Given the description of an element on the screen output the (x, y) to click on. 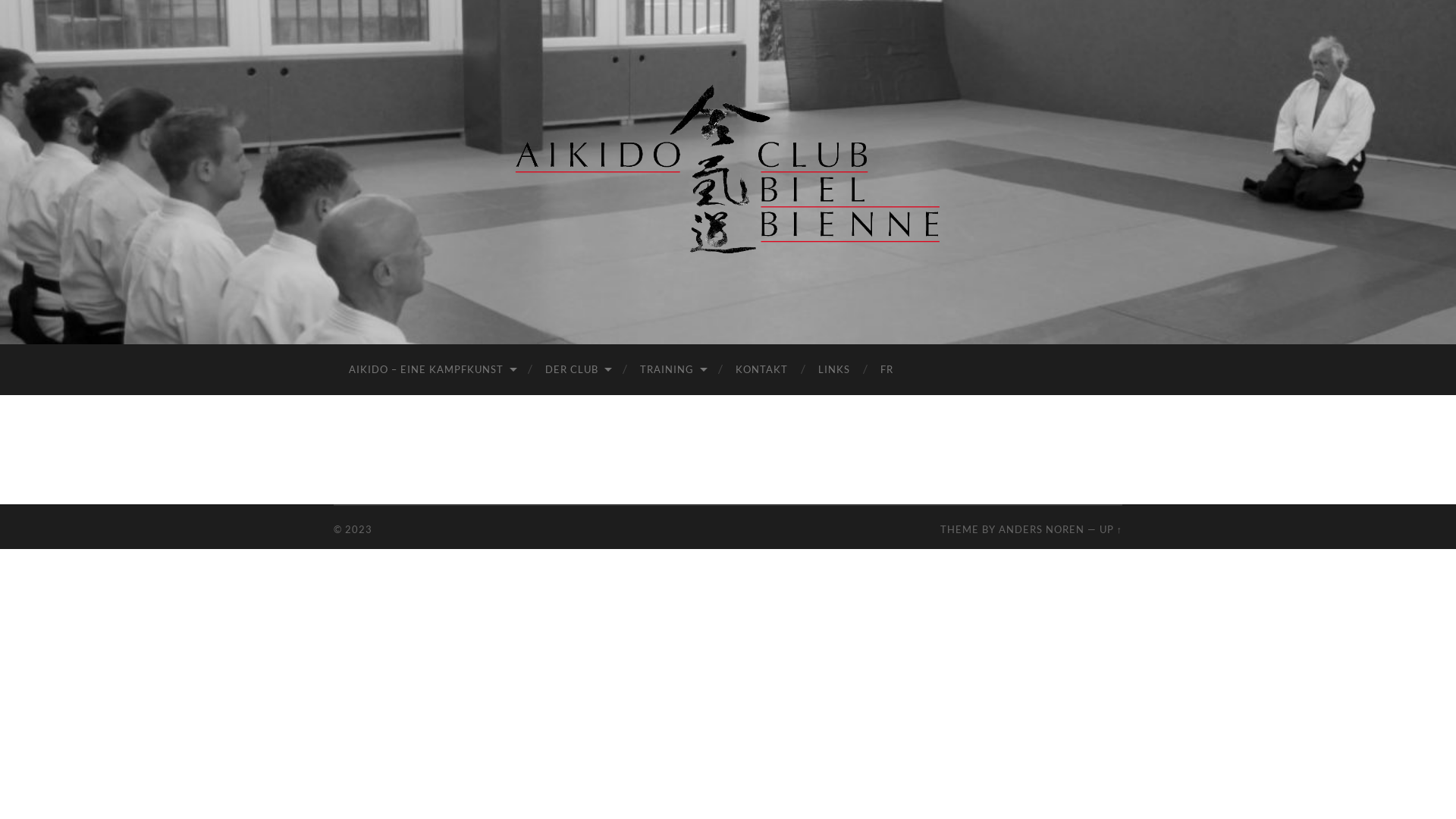
ANDERS NOREN Element type: text (1041, 529)
KONTAKT Element type: text (761, 369)
TRAINING Element type: text (672, 369)
FR Element type: text (886, 369)
LINKS Element type: text (834, 369)
DER CLUB Element type: text (577, 369)
